Given the description of an element on the screen output the (x, y) to click on. 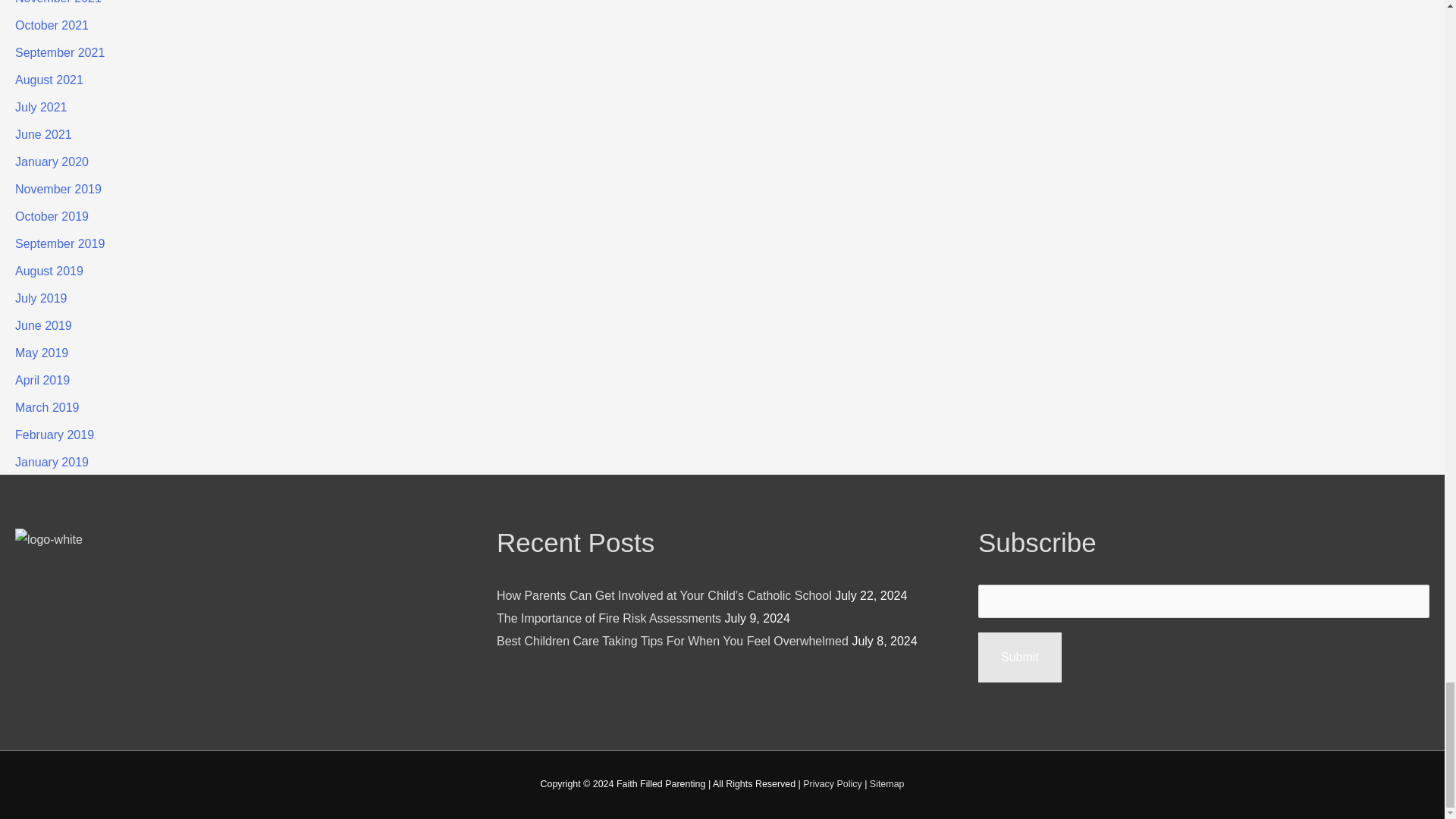
Submit (1019, 657)
